Given the description of an element on the screen output the (x, y) to click on. 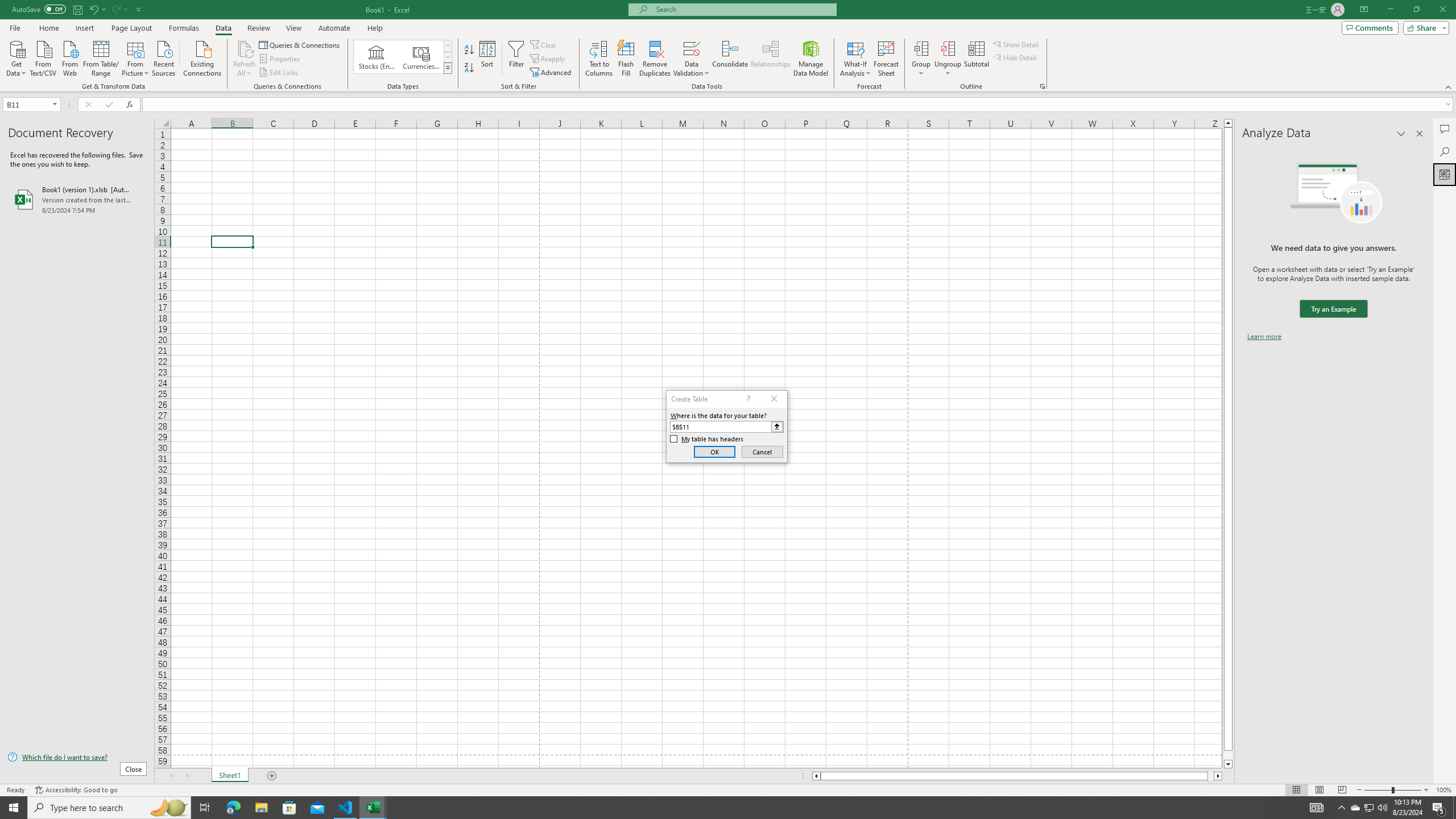
Redo (119, 9)
Forecast Sheet (885, 58)
System (6, 6)
